Given the description of an element on the screen output the (x, y) to click on. 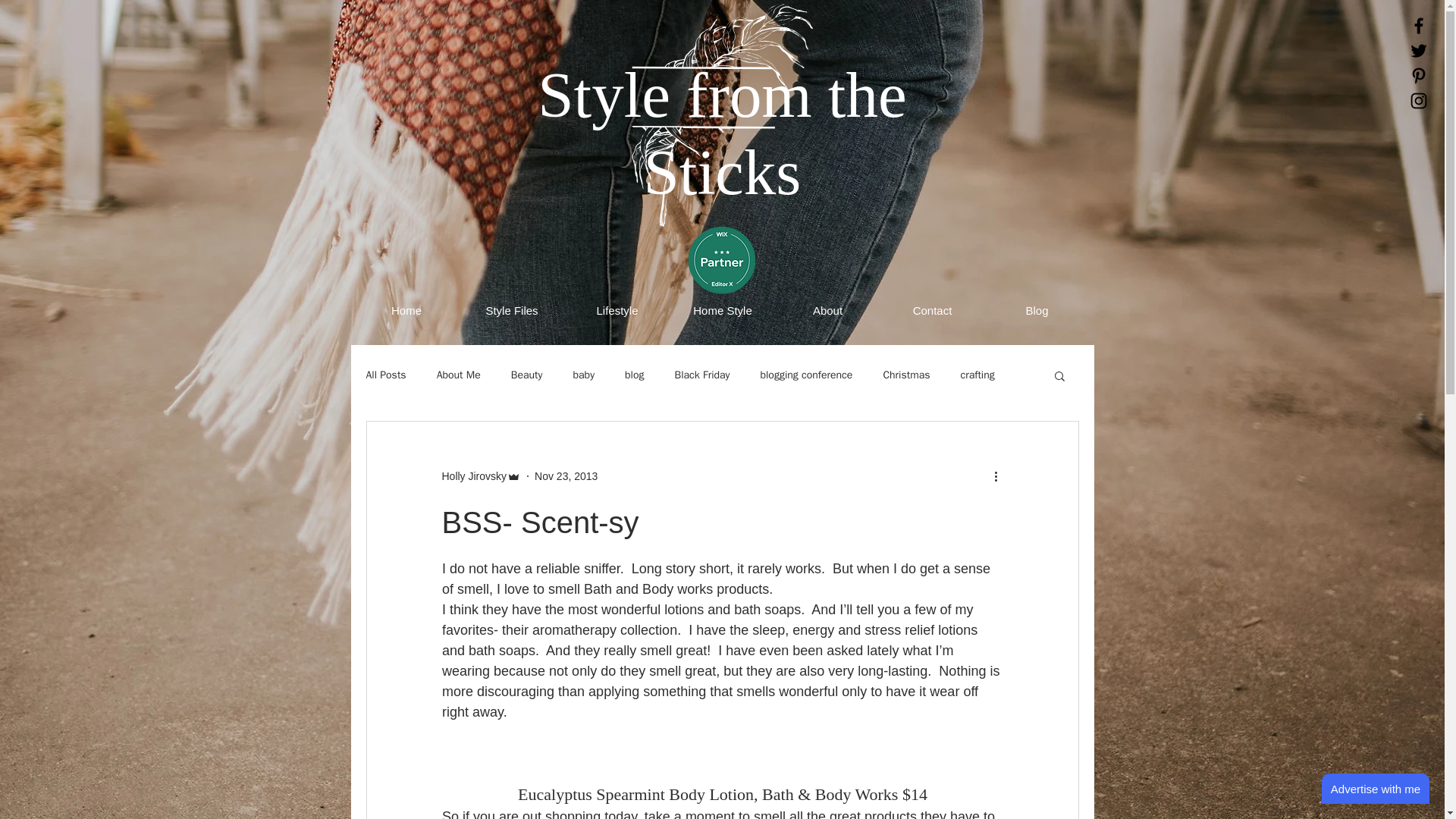
Holly Jirovsky (473, 476)
blog (633, 375)
Black Friday (701, 375)
Blog (1036, 311)
Contact (931, 311)
baby (583, 375)
Nov 23, 2013 (565, 476)
Home (405, 311)
About (826, 311)
Beauty (527, 375)
